Given the description of an element on the screen output the (x, y) to click on. 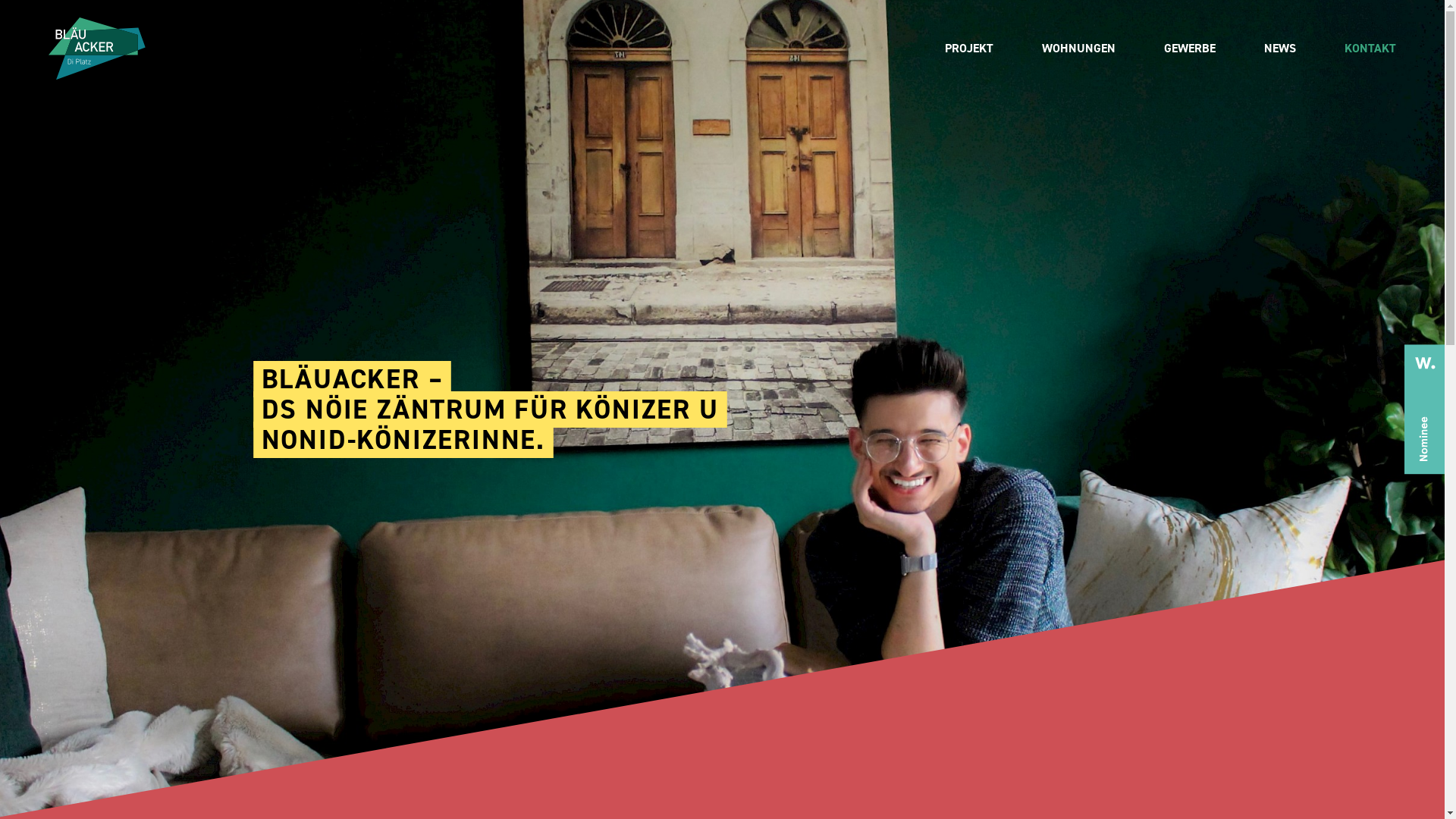
NEWS Element type: text (1279, 48)
KONTAKT Element type: text (1370, 48)
PROJEKT Element type: text (968, 48)
WOHNUNGEN Element type: text (1078, 48)
GEWERBE Element type: text (1189, 48)
